Given the description of an element on the screen output the (x, y) to click on. 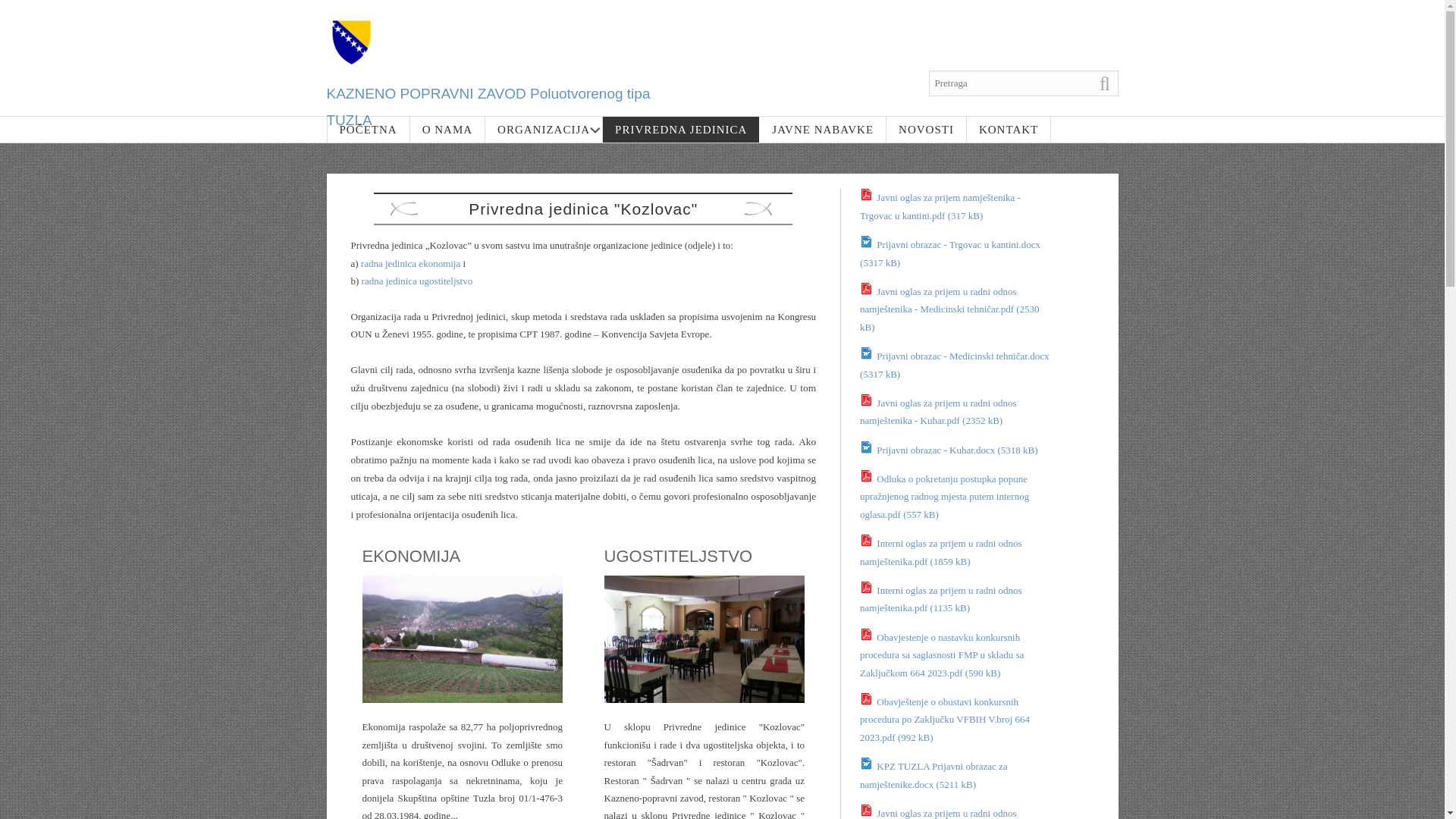
ORGANIZACIJA Element type: text (543, 129)
radna jedinica ekonomija Element type: text (410, 263)
O NAMA Element type: text (446, 129)
KONTAKT Element type: text (1008, 129)
NOVOSTI Element type: text (926, 129)
Prijavni obrazac - Trgovac u kantini.docx (5317 kB) Element type: text (949, 252)
PRIVREDNA JEDINICA Element type: text (680, 129)
JAVNE NABAVKE Element type: text (822, 129)
KAZNENO POPRAVNI ZAVOD Poluotvorenog tipa TUZLA Element type: text (487, 106)
Prijavni obrazac - Kuhar.docx (5318 kB) Element type: text (948, 449)
radna jedinica ugostiteljstvo Element type: text (417, 280)
